Given the description of an element on the screen output the (x, y) to click on. 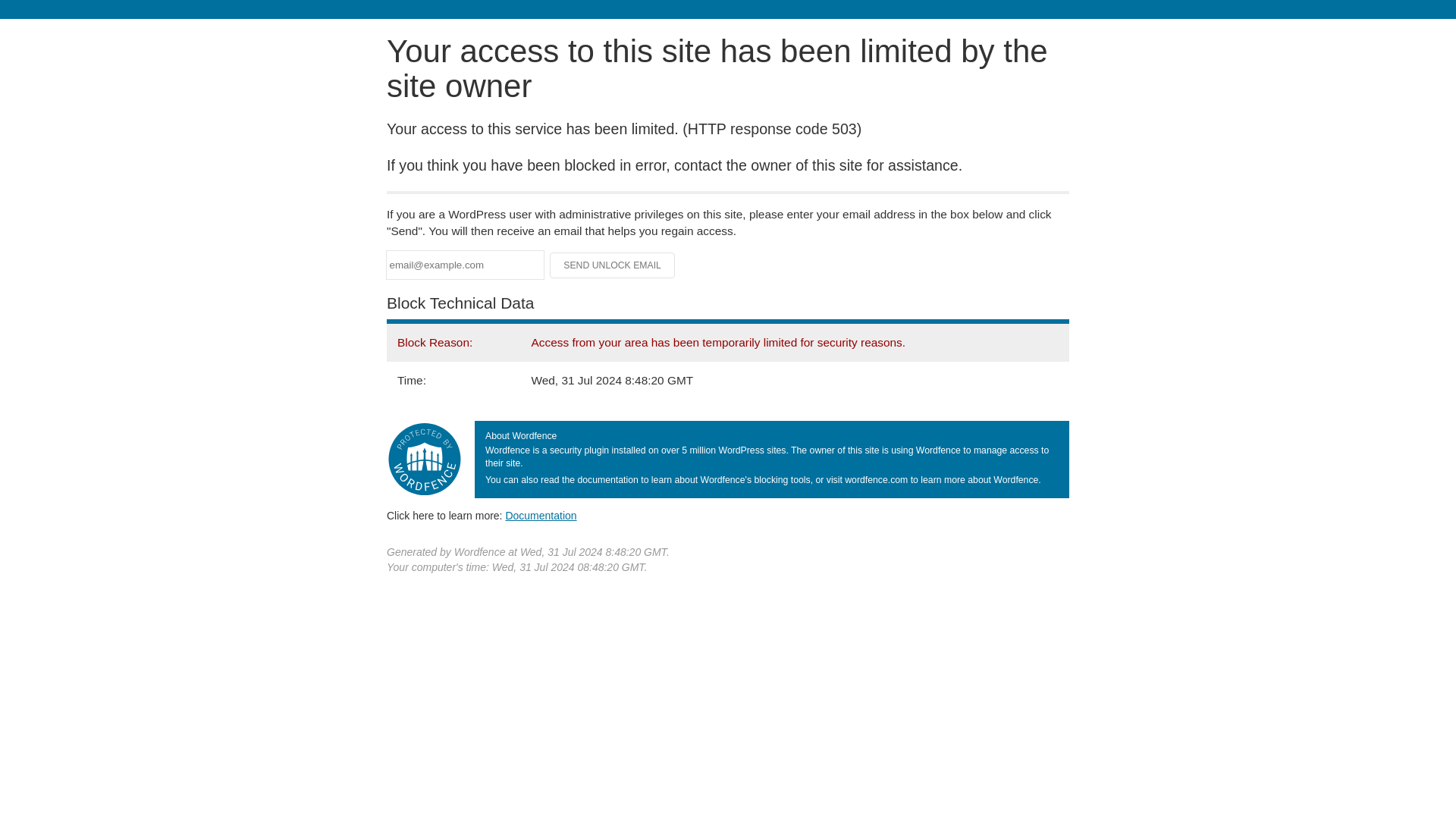
Send Unlock Email (612, 265)
Documentation (540, 515)
Send Unlock Email (612, 265)
